Given the description of an element on the screen output the (x, y) to click on. 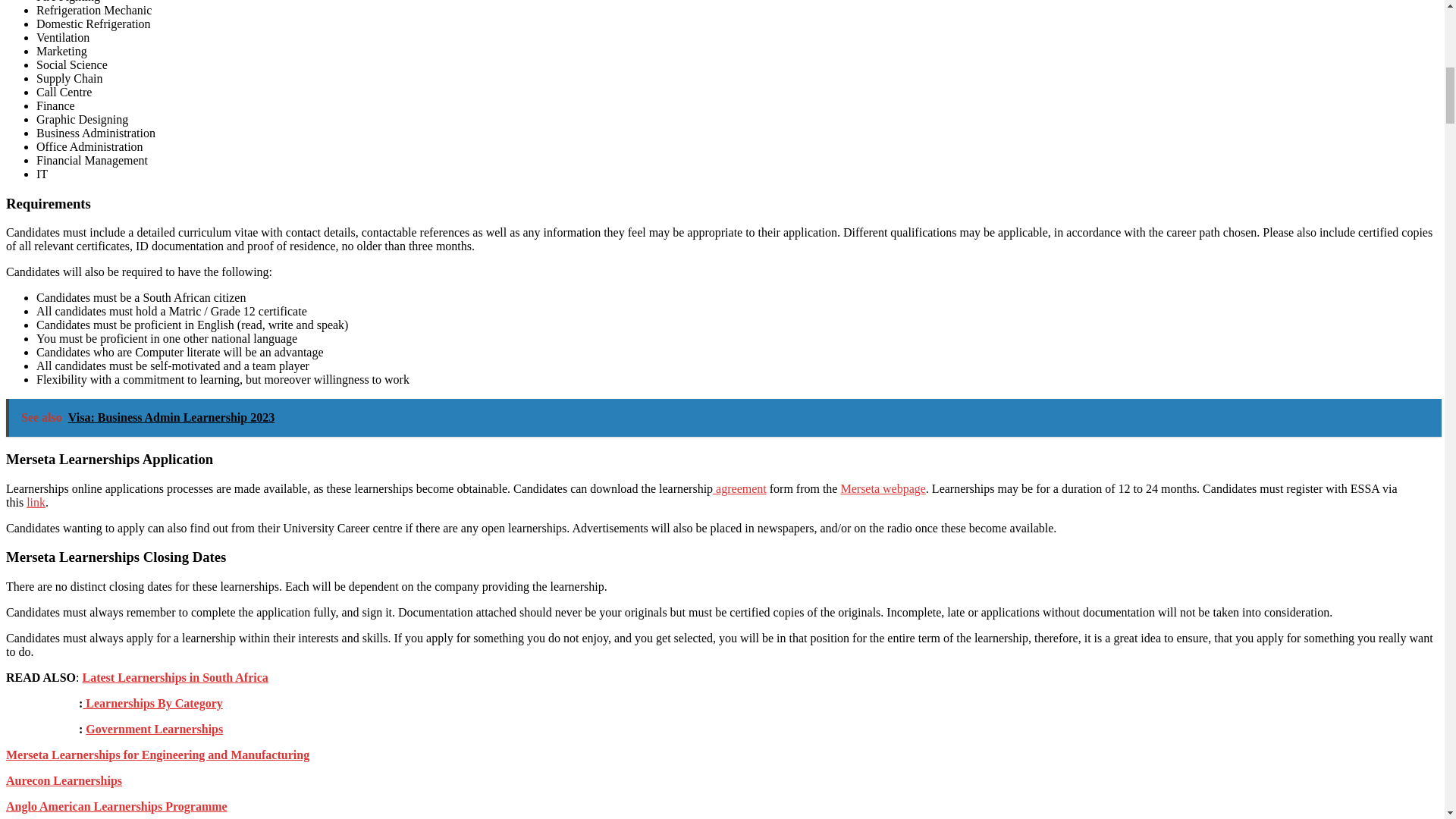
Learnerships By Category (152, 703)
Government Learnerships (153, 728)
Merseta webpage (882, 488)
 agreement (740, 488)
link (35, 502)
Anglo American Learnerships Programme (116, 806)
Aurecon Learnerships (63, 780)
Merseta Learnerships for Engineering and Manufacturing (156, 754)
Latest Learnerships in South Africa (174, 676)
